Given the description of an element on the screen output the (x, y) to click on. 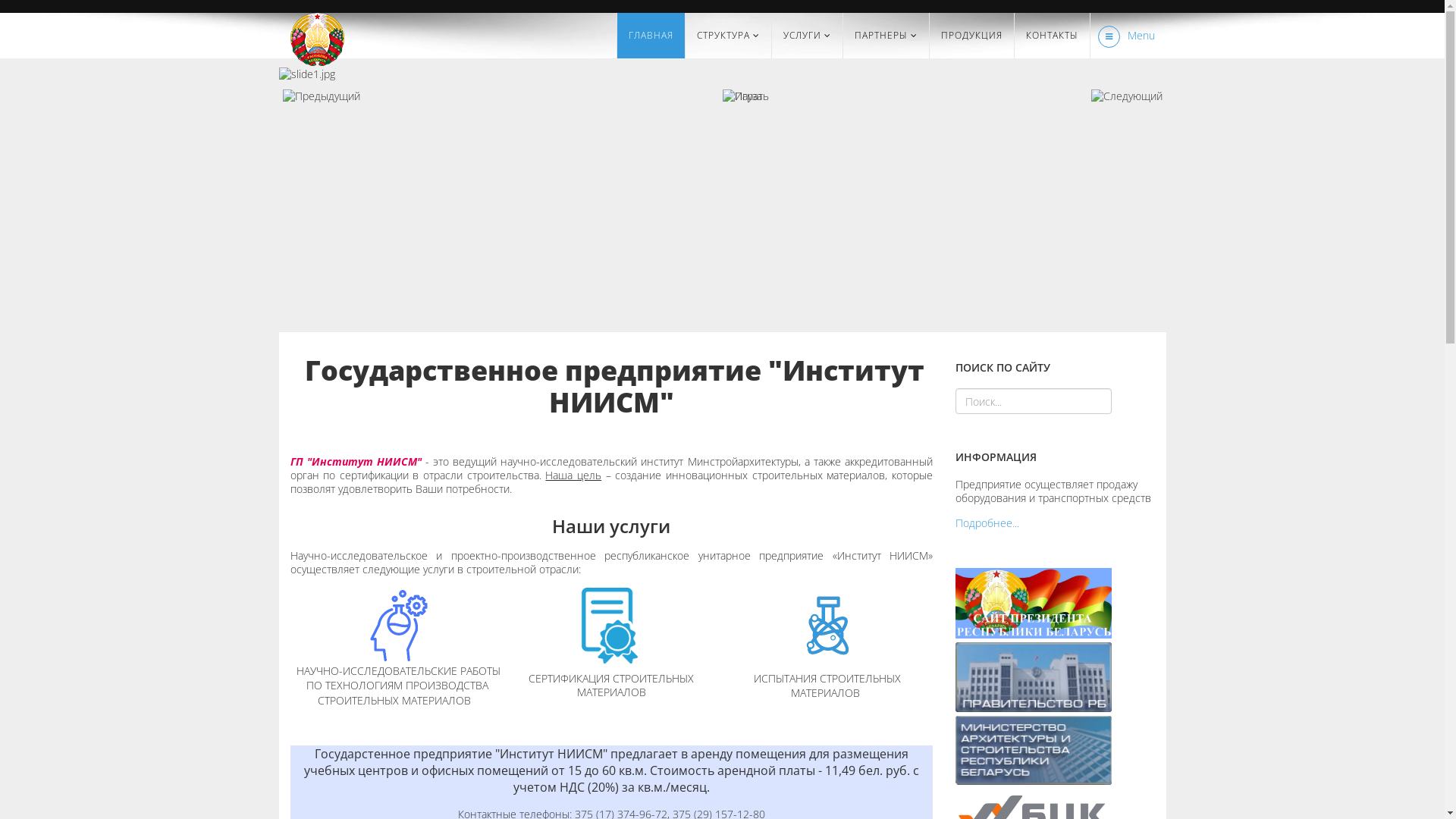
Menu Element type: text (1122, 35)
